Given the description of an element on the screen output the (x, y) to click on. 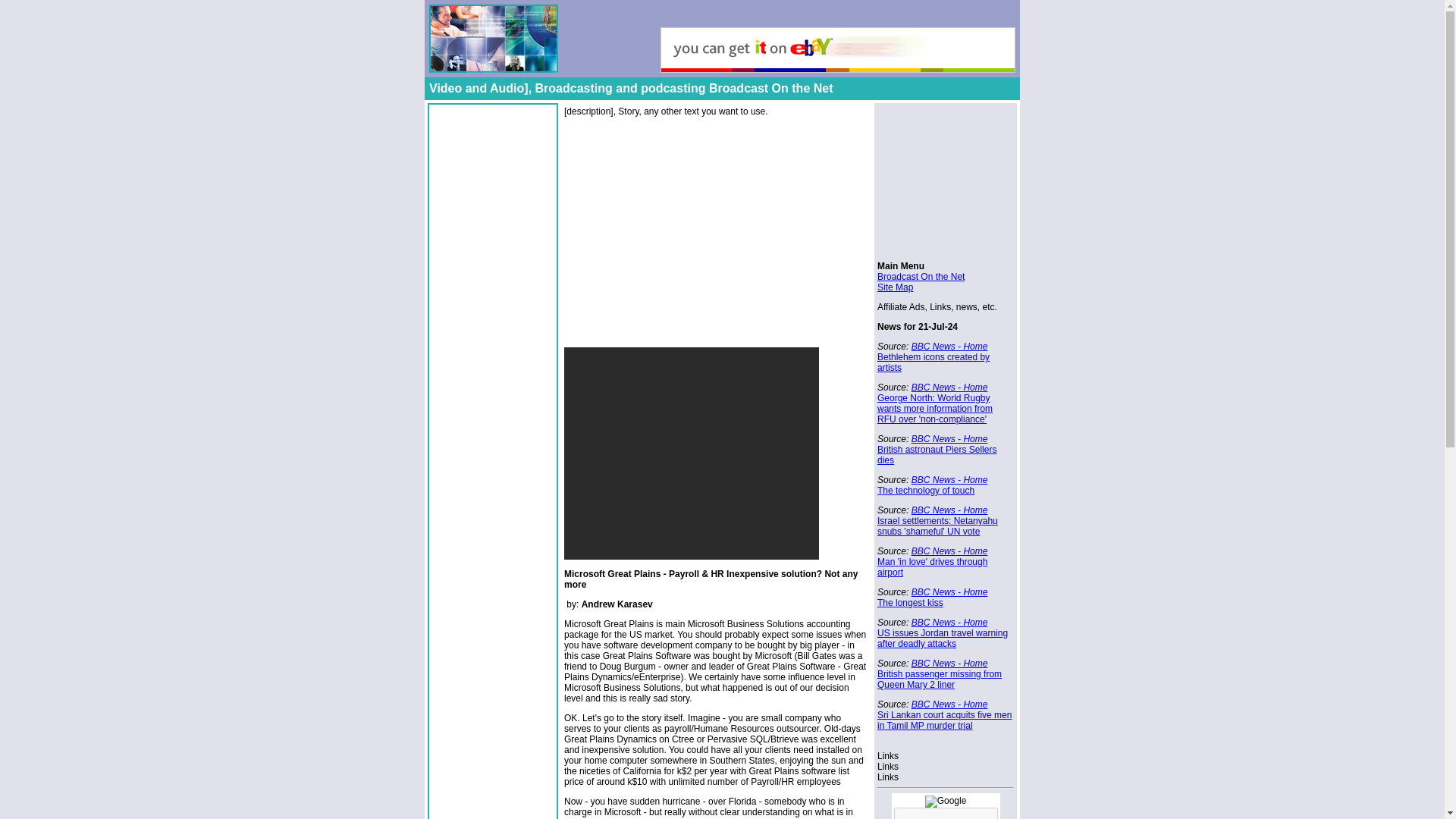
Advertisement (691, 453)
BBC News - Home (949, 663)
BBC News - Home (949, 551)
BBC News - Home (949, 592)
BBC News - Home (949, 439)
US issues Jordan travel warning after deadly attacks (942, 638)
Sri Lankan court acquits five men in Tamil MP murder trial (944, 720)
Bethlehem icons created by artists (933, 362)
British passenger missing from Queen Mary 2 liner (939, 679)
Site Map (894, 286)
BBC News - Home (949, 346)
BBC News - Home (949, 387)
BBC News - Home (949, 480)
Broadcast On the Net (920, 276)
